Given the description of an element on the screen output the (x, y) to click on. 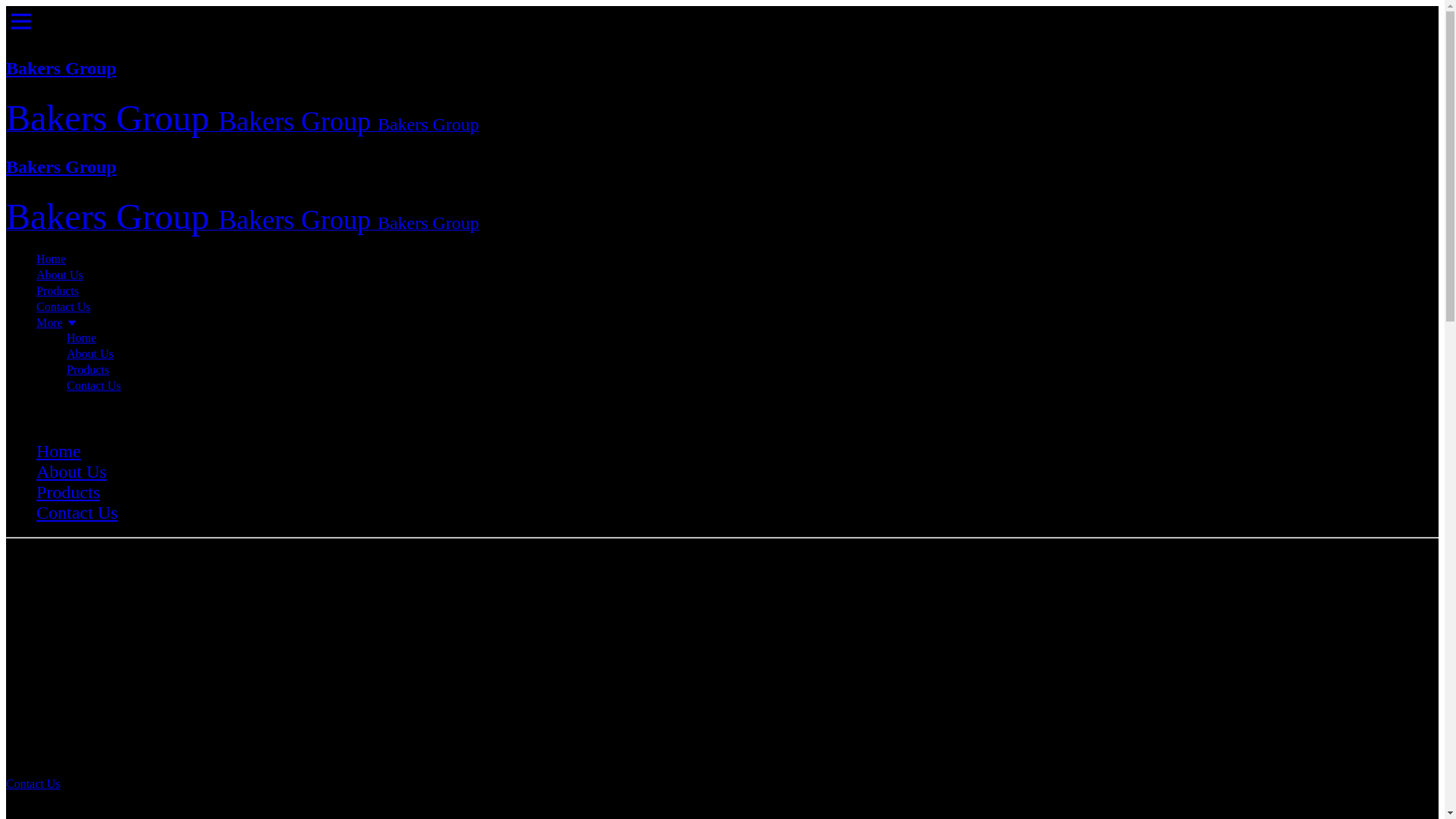
Bakers Group
Bakers Group Bakers Group Bakers Group Element type: text (722, 196)
Home Element type: text (81, 337)
Contact Us Element type: text (33, 783)
Contact Us Element type: text (93, 385)
Products Element type: text (57, 290)
About Us Element type: text (59, 274)
Bakers Group
Bakers Group Bakers Group Bakers Group Element type: text (722, 98)
Contact Us Element type: text (76, 512)
About Us Element type: text (89, 353)
About Us Element type: text (71, 471)
More Element type: text (737, 322)
Contact Us Element type: text (63, 306)
Products Element type: text (68, 492)
Home Element type: text (50, 258)
Home Element type: text (58, 451)
Products Element type: text (87, 369)
